Given the description of an element on the screen output the (x, y) to click on. 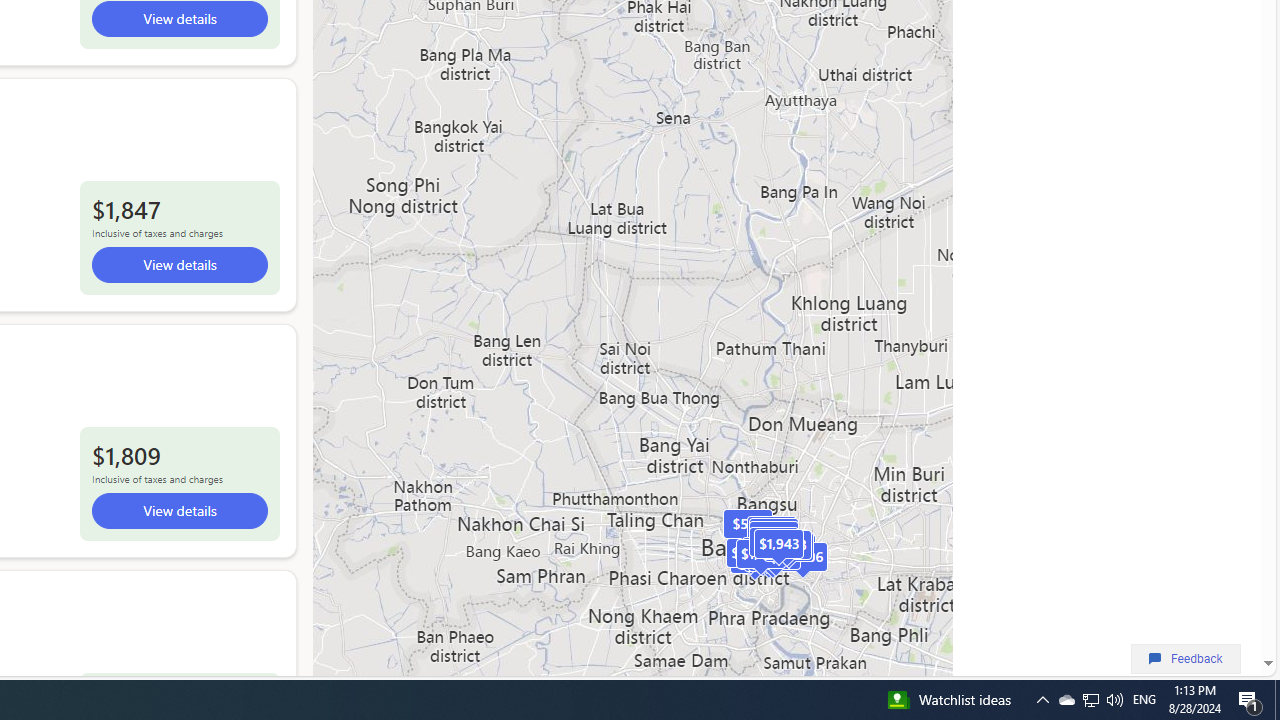
View details (178, 511)
